Given the description of an element on the screen output the (x, y) to click on. 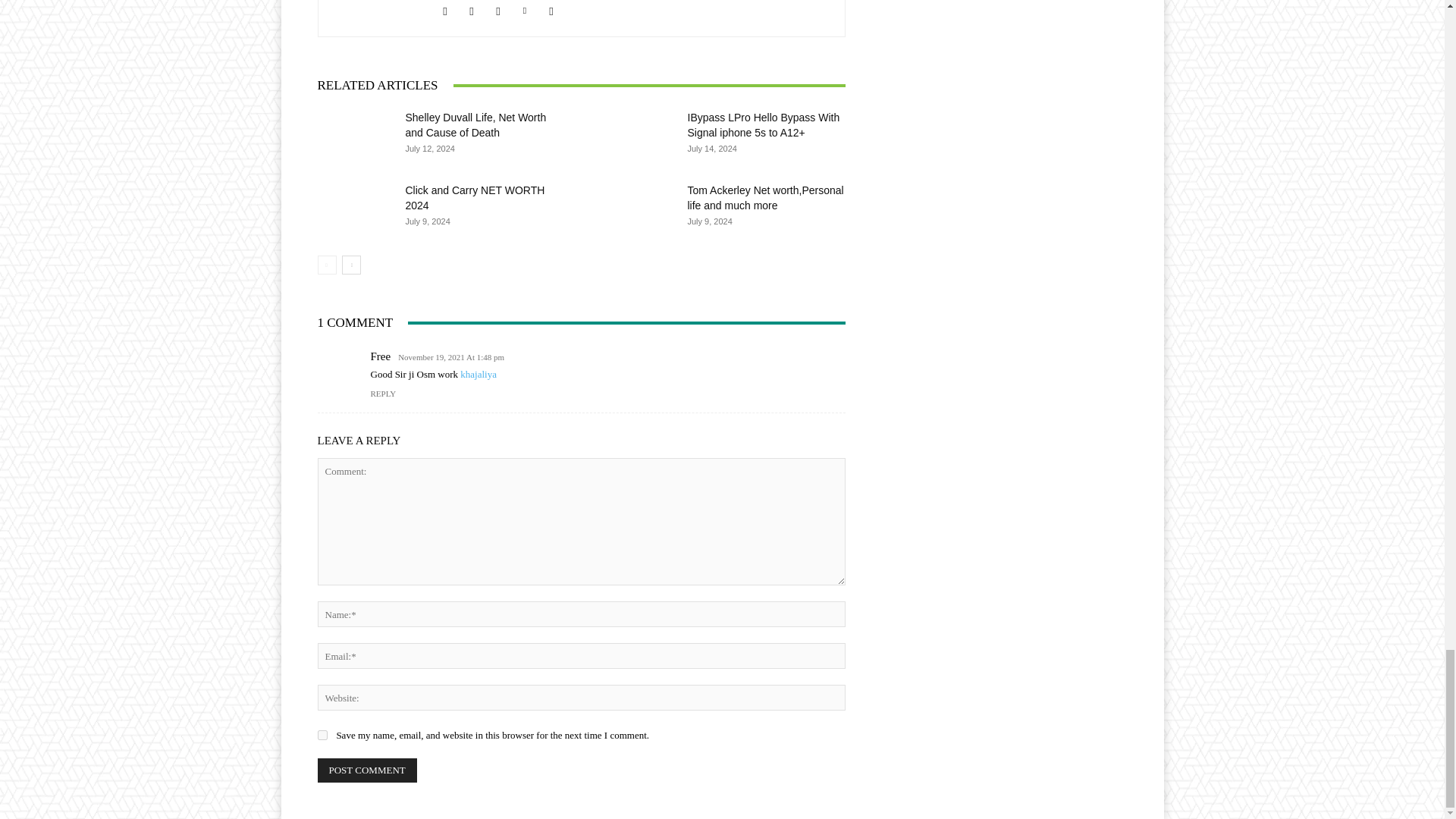
yes (321, 735)
Post Comment (366, 770)
